Given the description of an element on the screen output the (x, y) to click on. 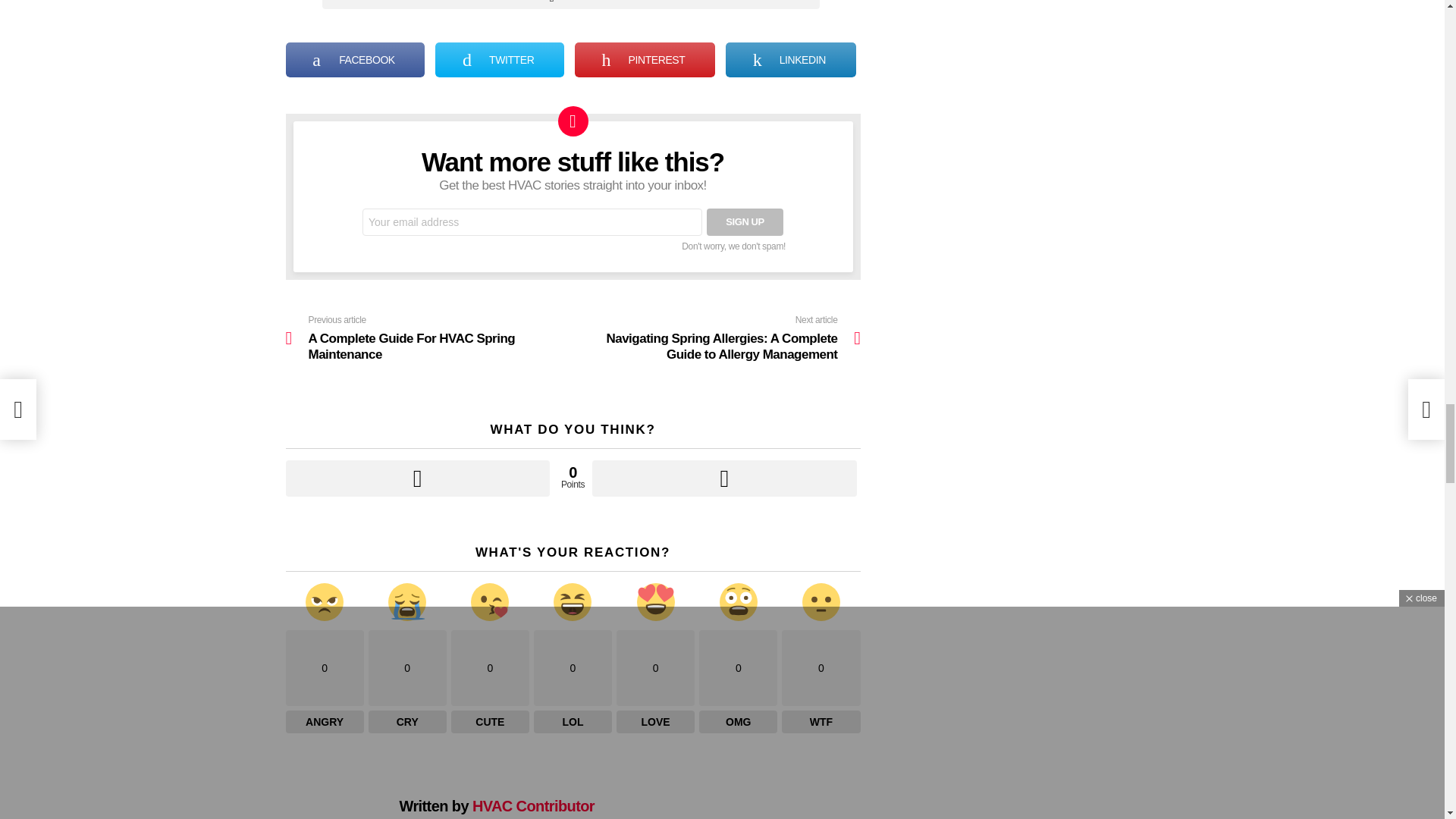
Sign up (744, 221)
